Given the description of an element on the screen output the (x, y) to click on. 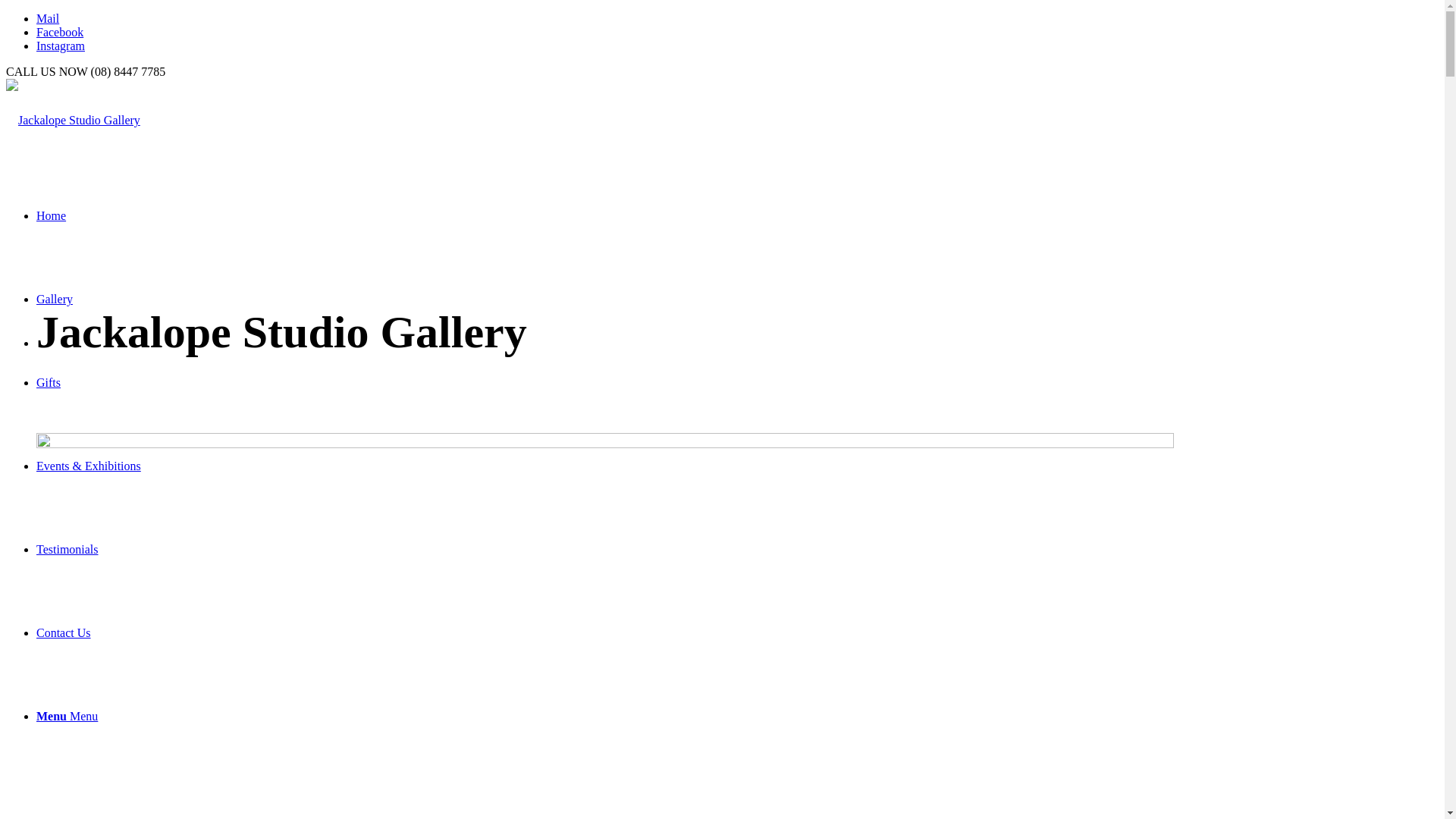
Events & Exhibitions Element type: text (88, 465)
Gallery Element type: text (54, 298)
title Element type: hover (73, 120)
Gifts Element type: text (48, 382)
Instagram Element type: text (60, 45)
Testimonials Element type: text (67, 548)
Menu Menu Element type: text (66, 715)
Home Element type: text (50, 215)
Mail Element type: text (47, 18)
Facebook Element type: text (59, 31)
Contact Us Element type: text (63, 632)
